Given the description of an element on the screen output the (x, y) to click on. 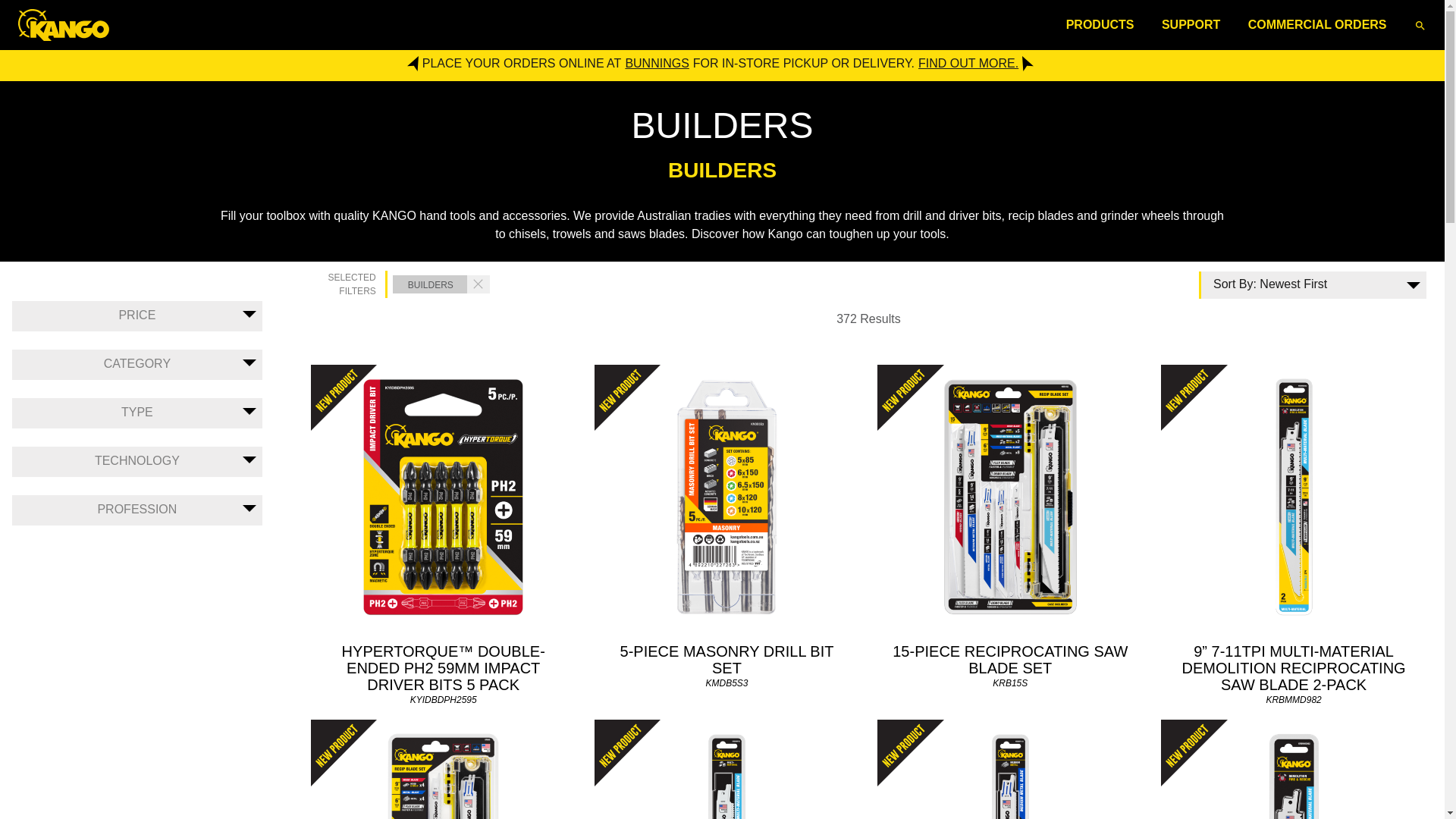
COMMERCIAL ORDERS Element type: text (1317, 24)
FIND OUT MORE. Element type: text (968, 62)
search Element type: text (1420, 24)
PRODUCTS Element type: text (1100, 24)
SUPPORT Element type: text (1190, 24)
15-PIECE RECIPROCATING SAW BLADE SET
KRB15S Element type: text (1009, 533)
BUNNINGS Element type: text (656, 62)
Home Element type: hover (67, 23)
5-PIECE MASONRY DRILL BIT SET
KMDB5S3 Element type: text (726, 533)
